Given the description of an element on the screen output the (x, y) to click on. 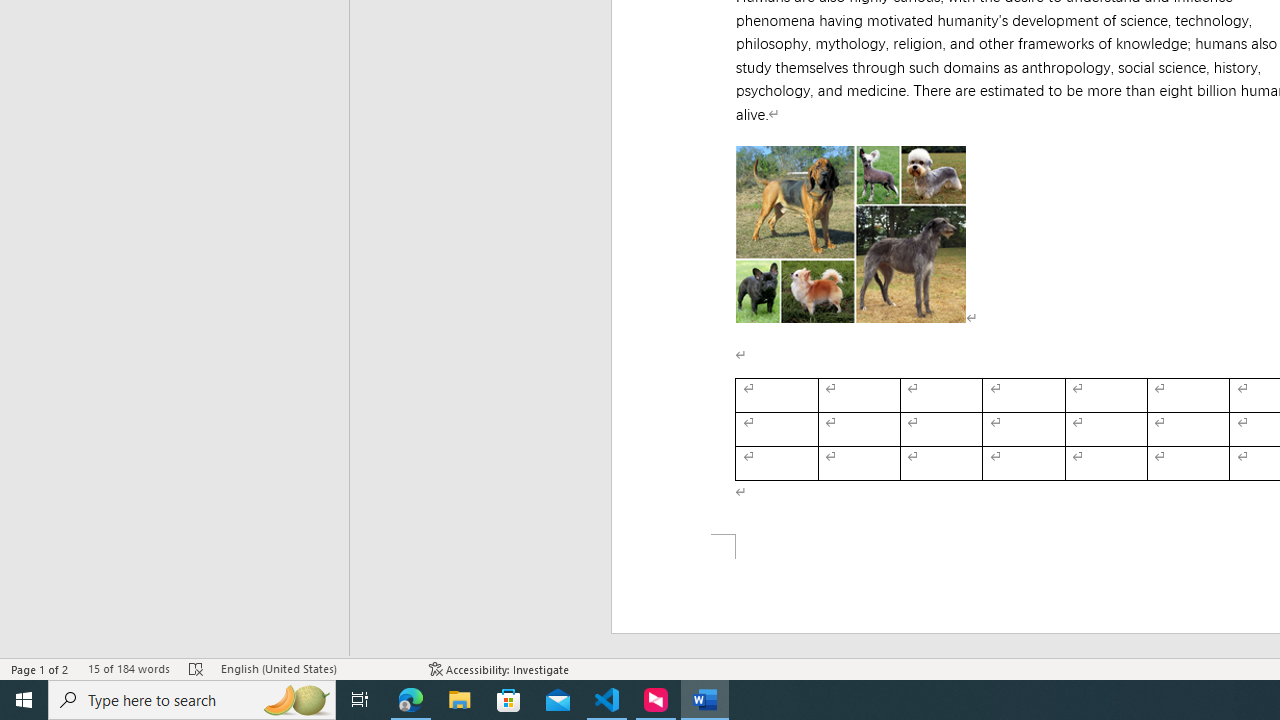
Visual Studio Code - 1 running window (607, 699)
Type here to search (191, 699)
Microsoft Store (509, 699)
Microsoft Edge - 1 running window (411, 699)
Accessibility Checker Accessibility: Investigate (499, 668)
Search highlights icon opens search home window (295, 699)
Morphological variation in six dogs (851, 234)
Task View (359, 699)
Word Count 15 of 184 words (128, 668)
Start (24, 699)
Spelling and Grammar Check Errors (196, 668)
Word - 1 running window (704, 699)
